Given the description of an element on the screen output the (x, y) to click on. 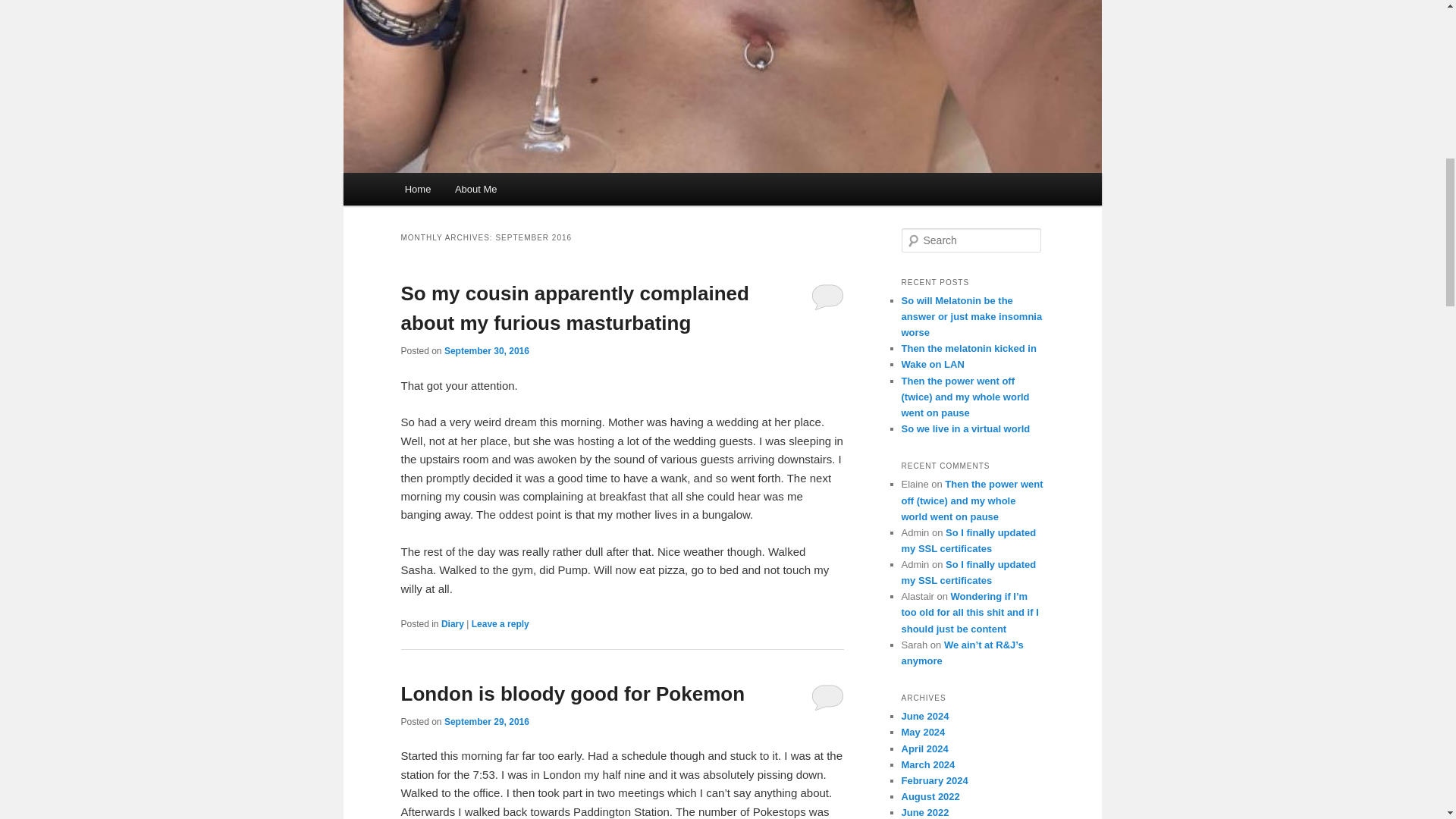
11:31 pm (486, 721)
September 30, 2016 (486, 350)
Home (417, 188)
Diary (452, 624)
Leave a reply (500, 624)
London is bloody good for Pokemon (572, 693)
September 29, 2016 (486, 721)
10:19 pm (486, 350)
About Me (475, 188)
